Given the description of an element on the screen output the (x, y) to click on. 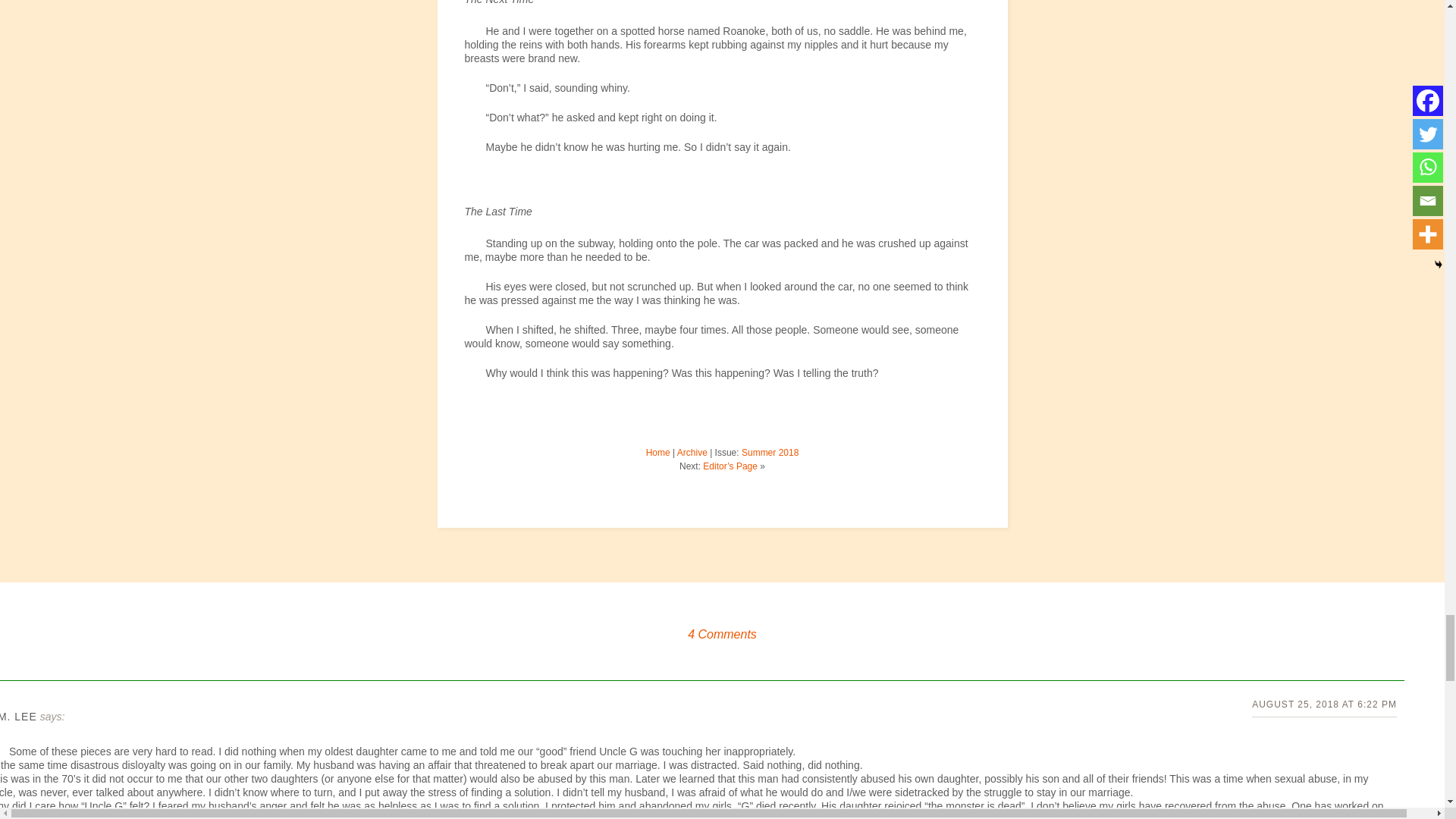
Home (657, 452)
AUGUST 25, 2018 AT 6:22 PM (1324, 704)
Archive (692, 452)
Summer 2018 (769, 452)
